Given the description of an element on the screen output the (x, y) to click on. 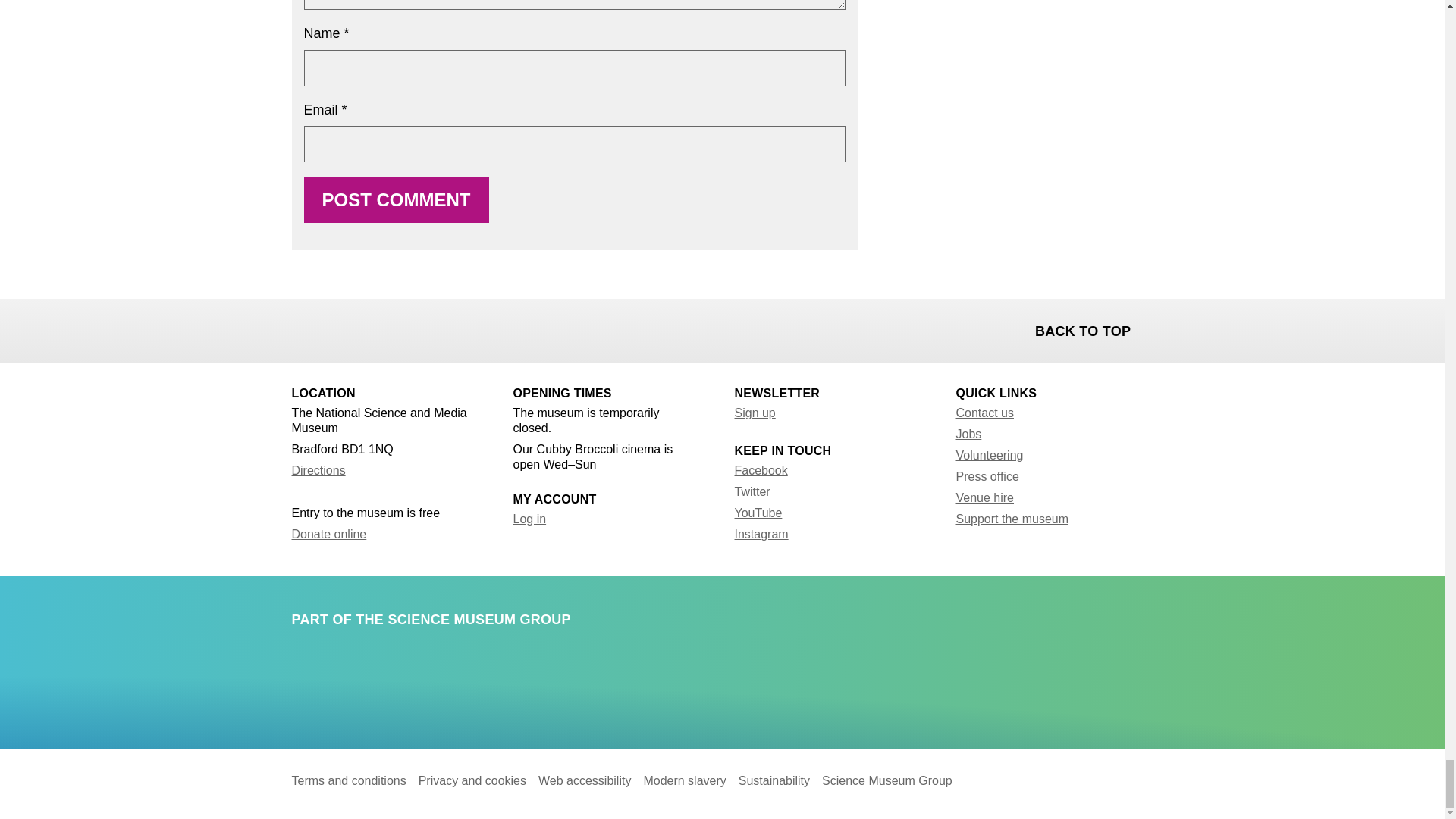
Share on facebook (304, 329)
Post Comment (394, 199)
Tweet this (344, 329)
Share by email (384, 329)
